Given the description of an element on the screen output the (x, y) to click on. 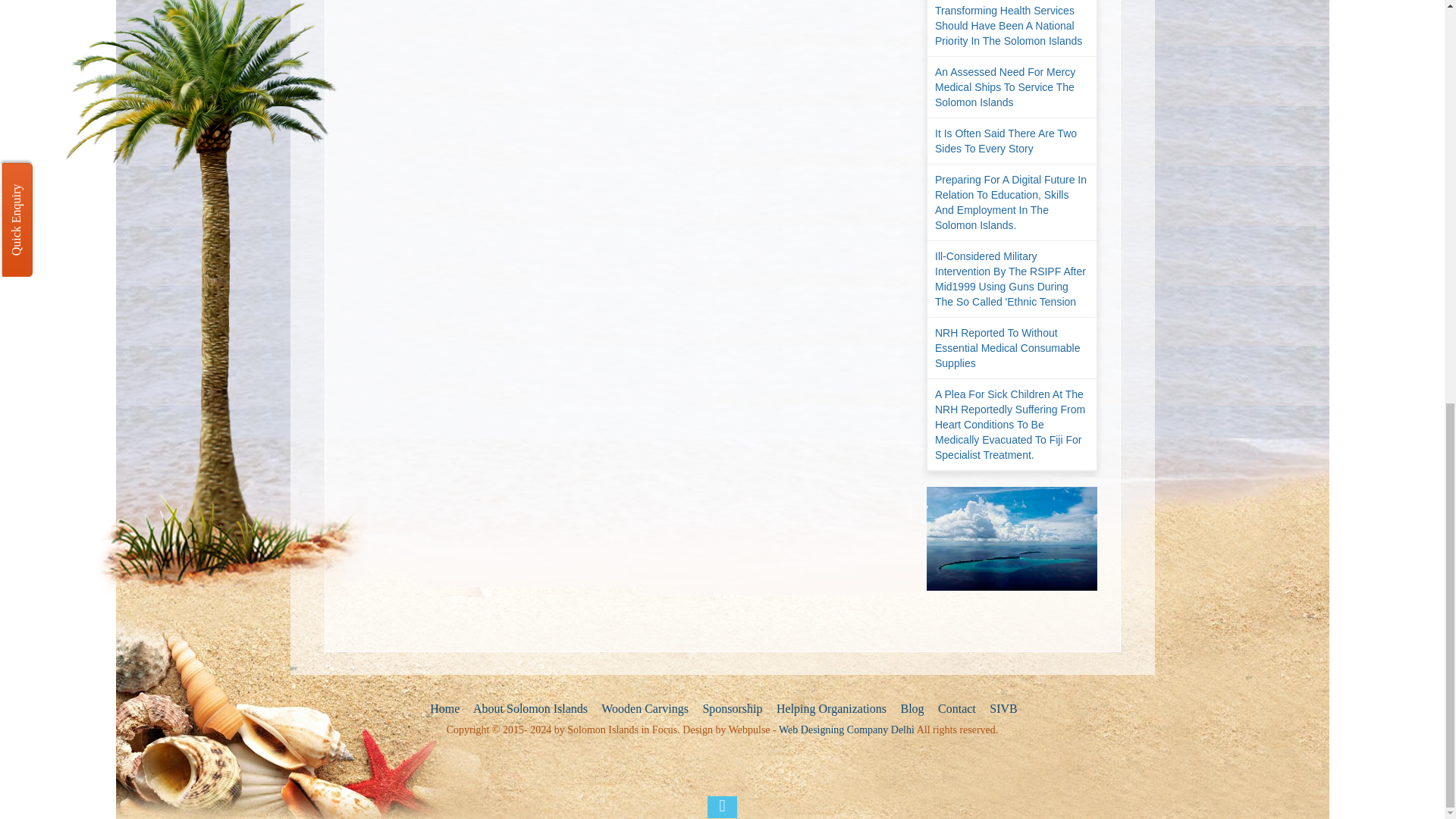
Wooden Carvings (643, 709)
Home (443, 709)
About Solomon Islands (529, 709)
It Is Often Said There Are Two Sides To Every Story (1011, 140)
